Given the description of an element on the screen output the (x, y) to click on. 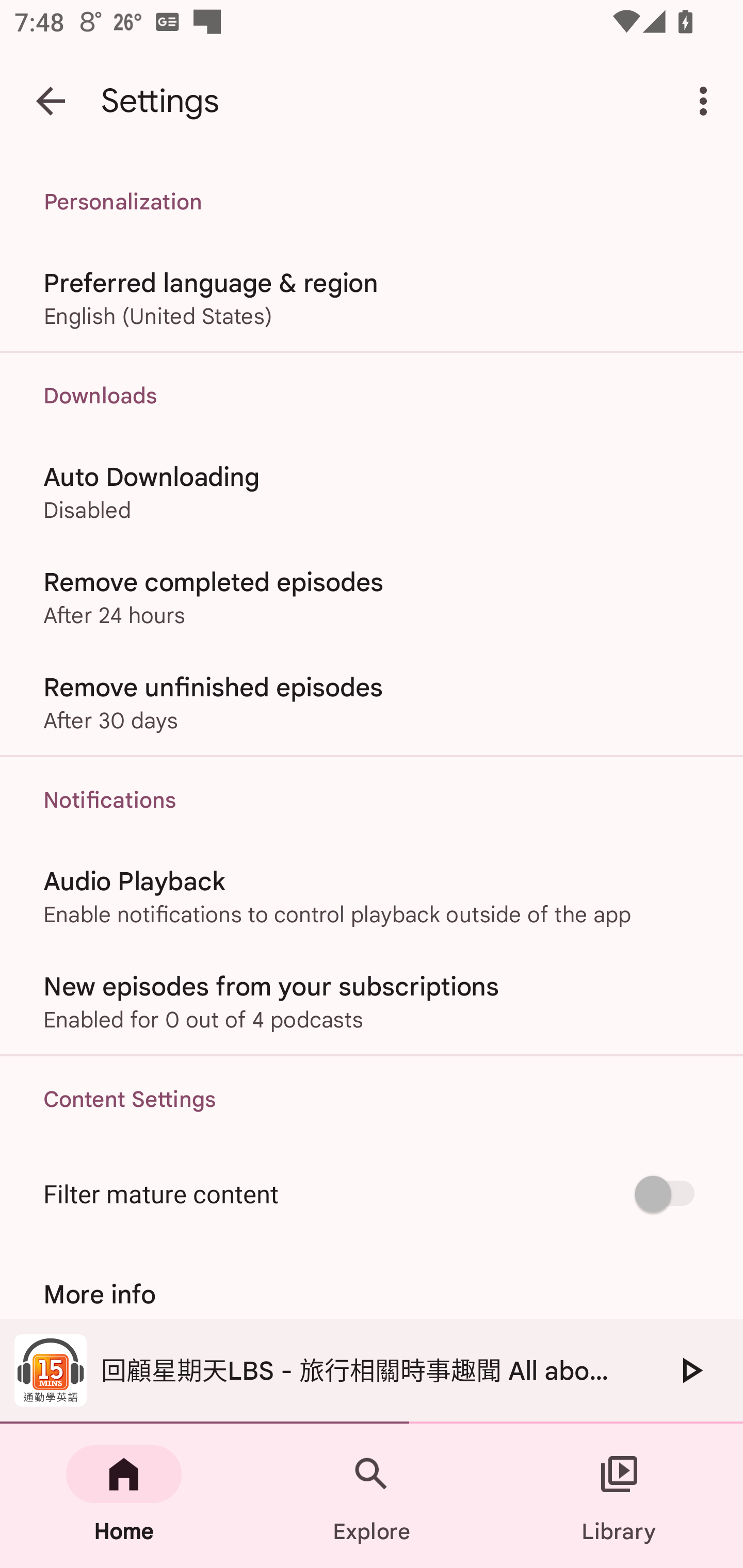
Navigate up (50, 101)
More options (706, 101)
Auto Downloading Disabled (371, 491)
Remove completed episodes After 24 hours (371, 596)
Remove unfinished episodes After 30 days (371, 702)
More info (371, 1294)
Play (690, 1370)
Explore (371, 1495)
Library (619, 1495)
